Given the description of an element on the screen output the (x, y) to click on. 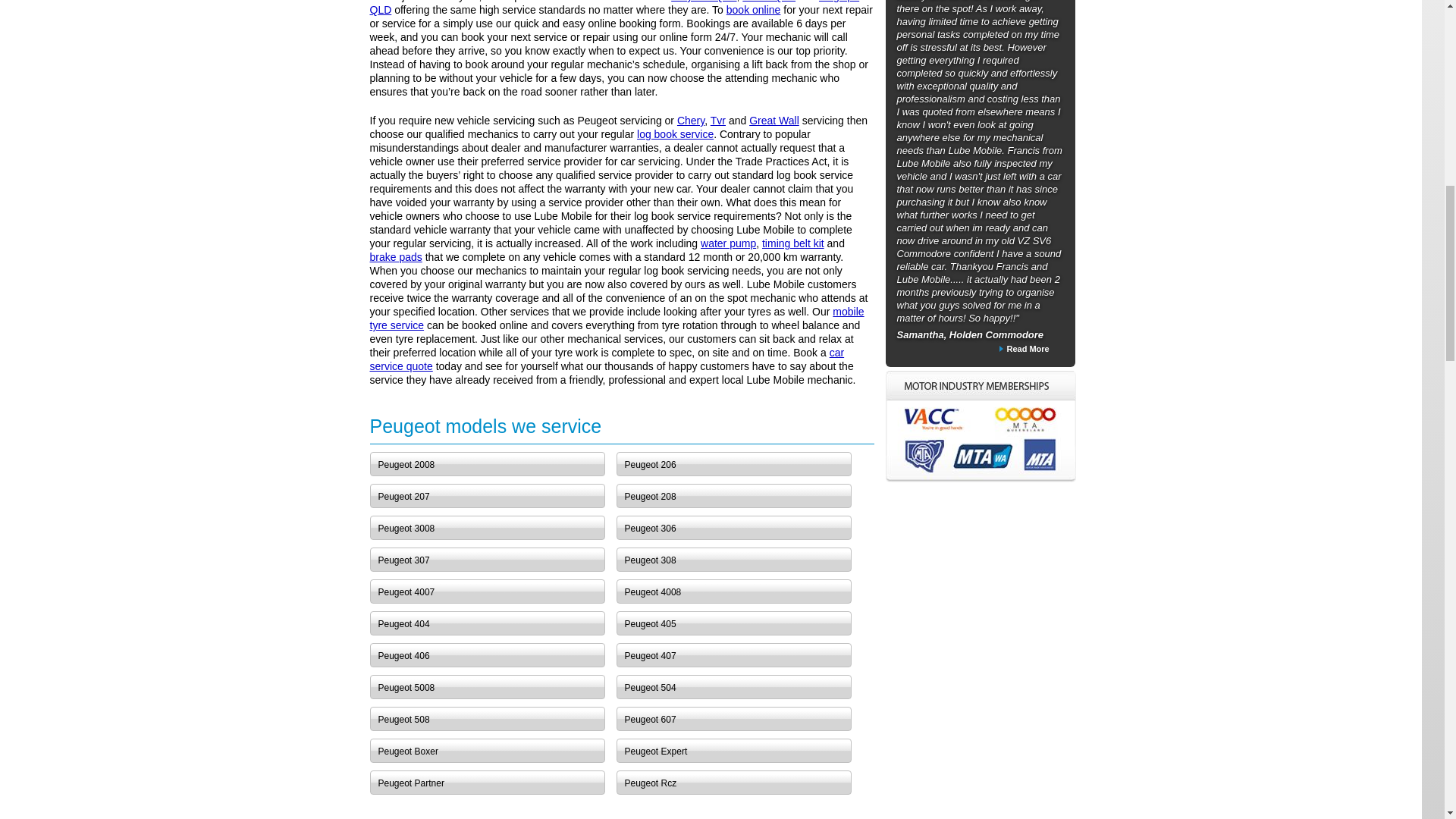
Griffin QLD (768, 1)
Tingalpa QLD (614, 7)
Clayfield QLD (703, 1)
book online (753, 9)
